Given the description of an element on the screen output the (x, y) to click on. 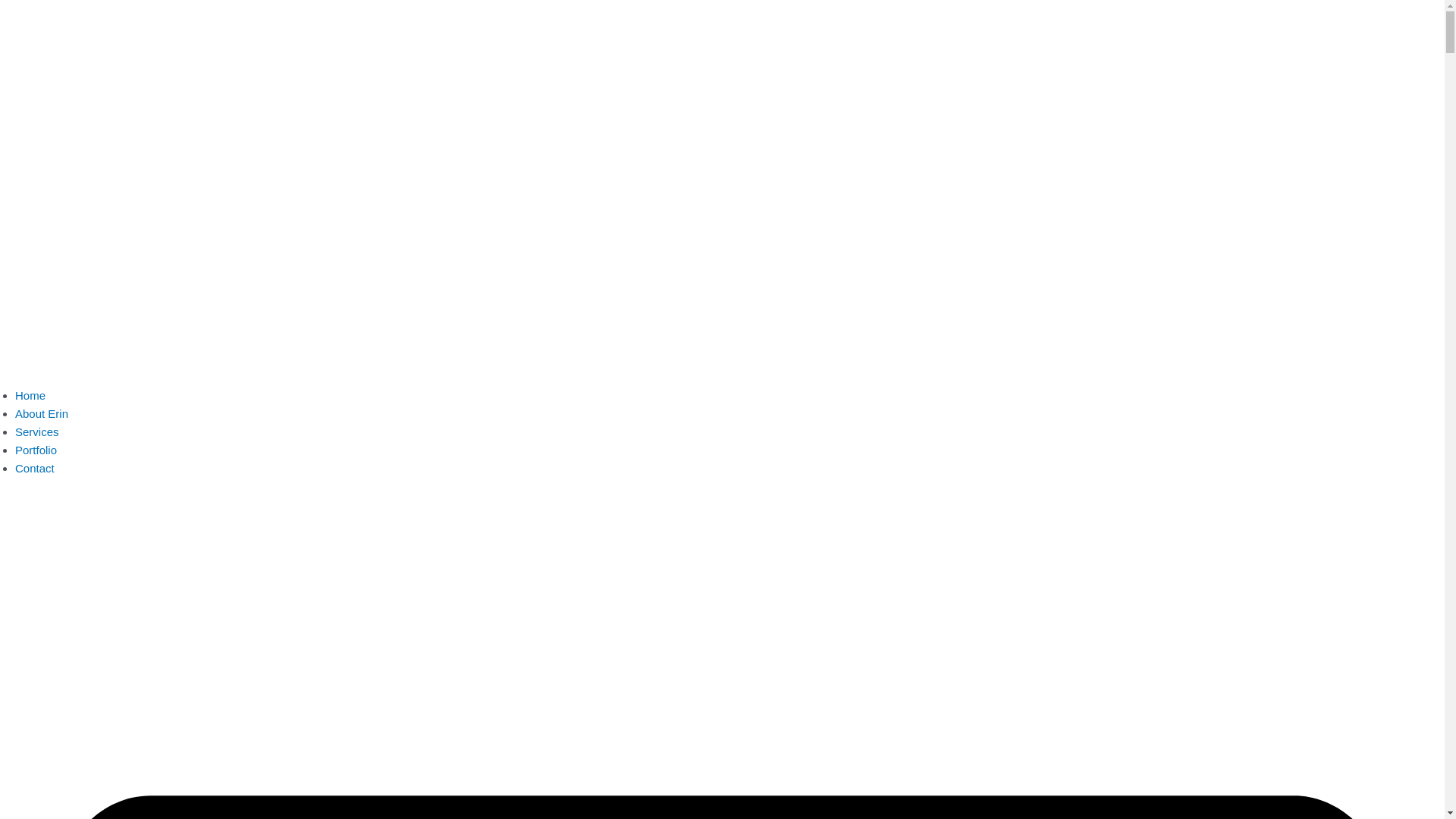
Services Element type: text (37, 431)
Contact Element type: text (34, 467)
About Erin Element type: text (41, 413)
Portfolio Element type: text (35, 449)
Home Element type: text (30, 395)
